Given the description of an element on the screen output the (x, y) to click on. 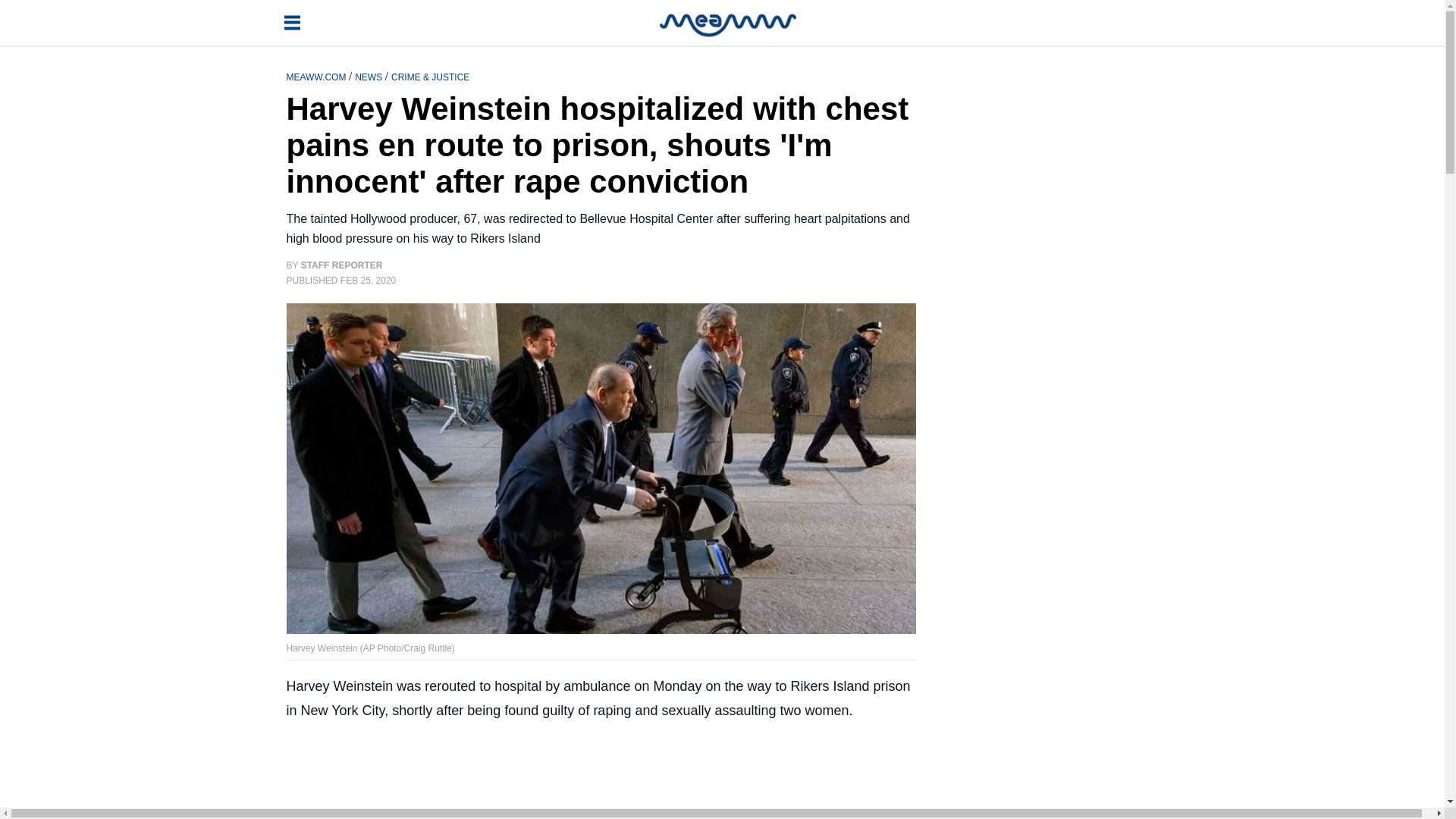
STAFF REPORTER (341, 265)
NEWS (369, 75)
MEAWW.COM (317, 75)
